Given the description of an element on the screen output the (x, y) to click on. 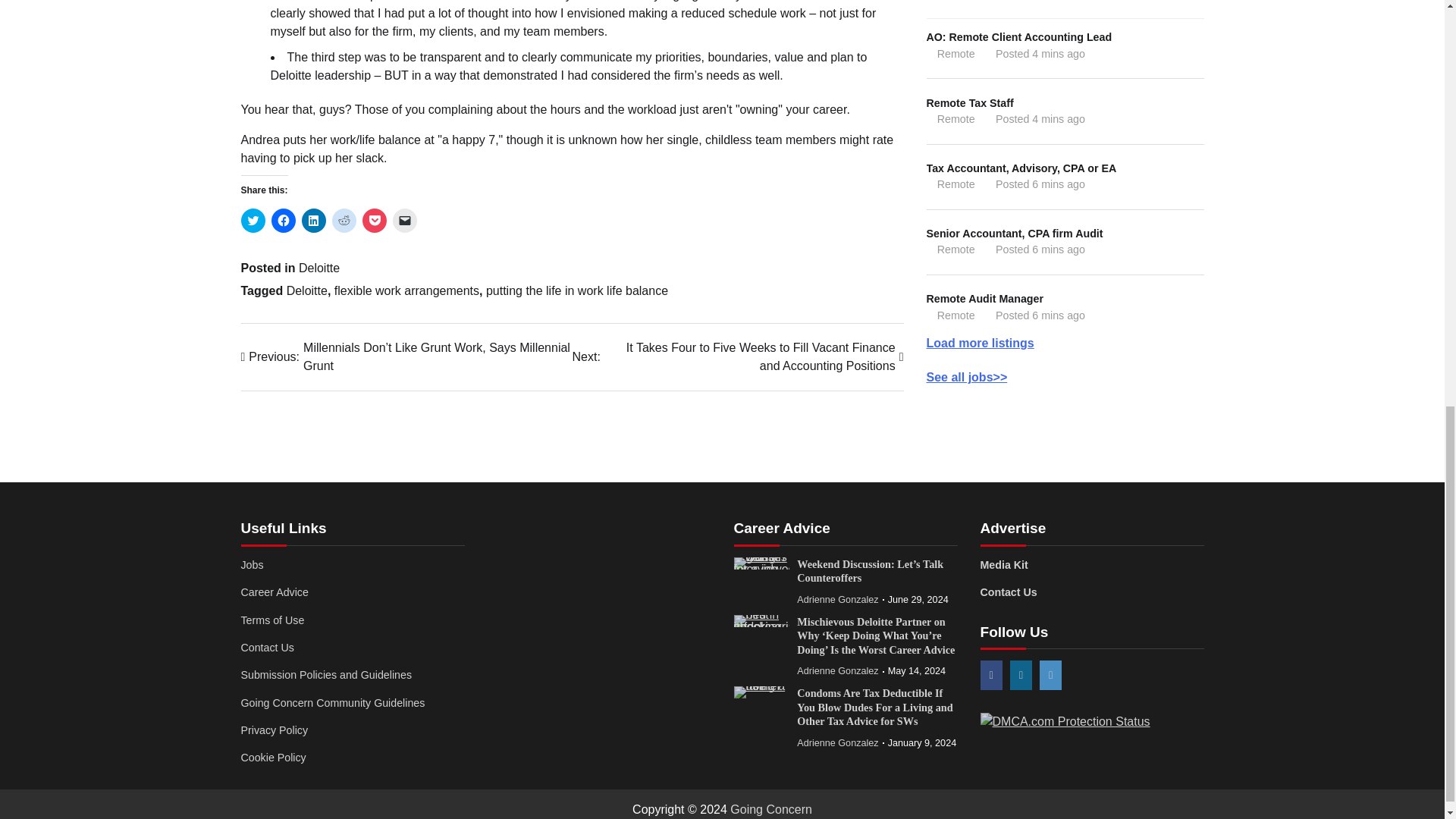
Click to share on Pocket (374, 220)
Click to share on LinkedIn (313, 220)
putting the life in work life balance (577, 290)
Deloitte (318, 267)
Click to share on Reddit (343, 220)
Click to share on Facebook (282, 220)
Deloitte (306, 290)
Click to email a link to a friend (404, 220)
flexible work arrangements (406, 290)
Click to share on Twitter (252, 220)
